Given the description of an element on the screen output the (x, y) to click on. 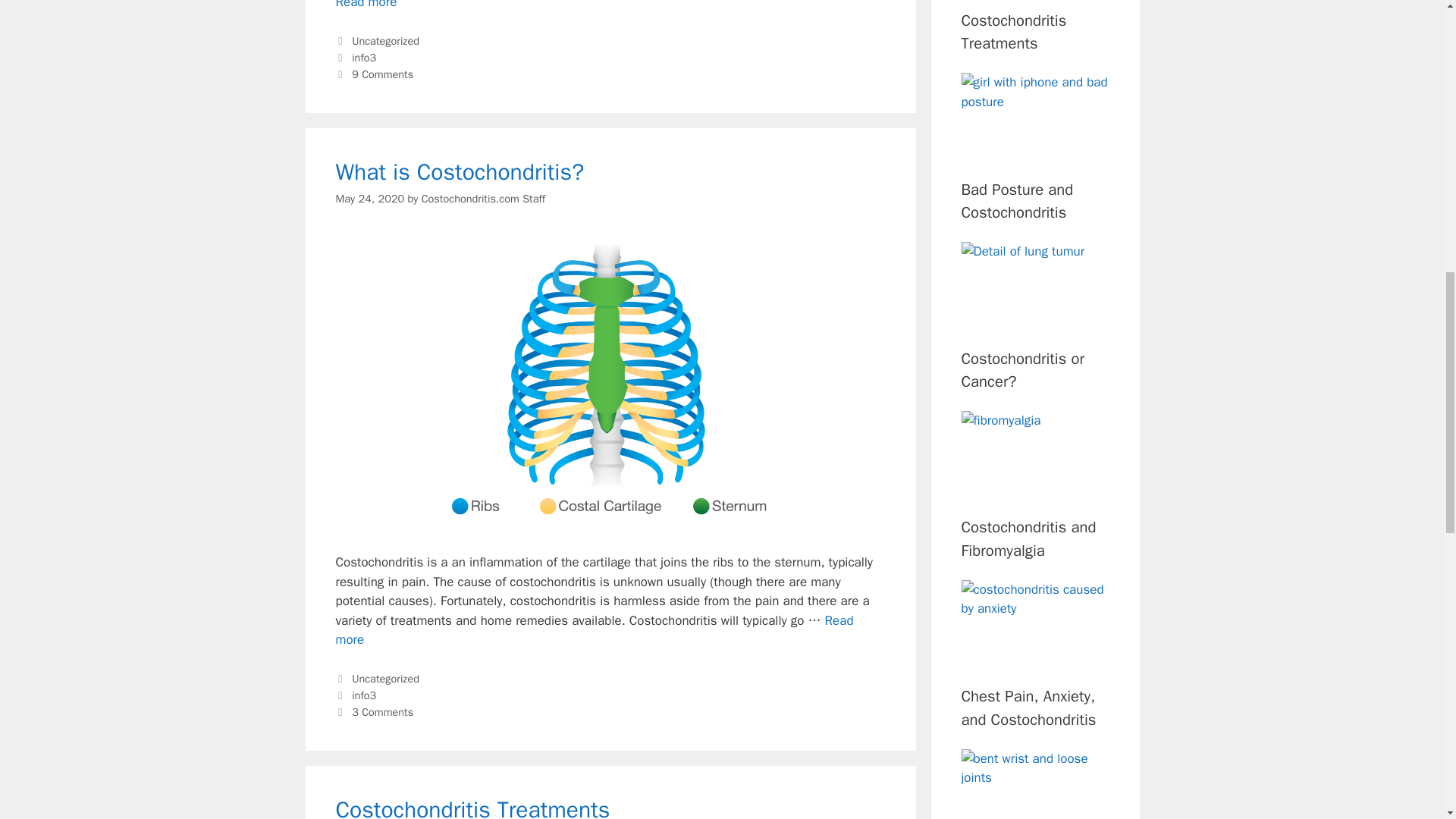
3 Comments (382, 712)
Costochondritis Treatments (472, 807)
What is Costochondritis? (593, 630)
May 24, 2020 (369, 198)
What Causes Costochondritis? (365, 4)
Uncategorized (365, 4)
What is Costochondritis? (385, 678)
info3 (458, 172)
View all posts by Costochondritis.com Staff (363, 57)
Uncategorized (483, 198)
info3 (385, 40)
2:58 pm (363, 694)
9 Comments (369, 198)
